Given the description of an element on the screen output the (x, y) to click on. 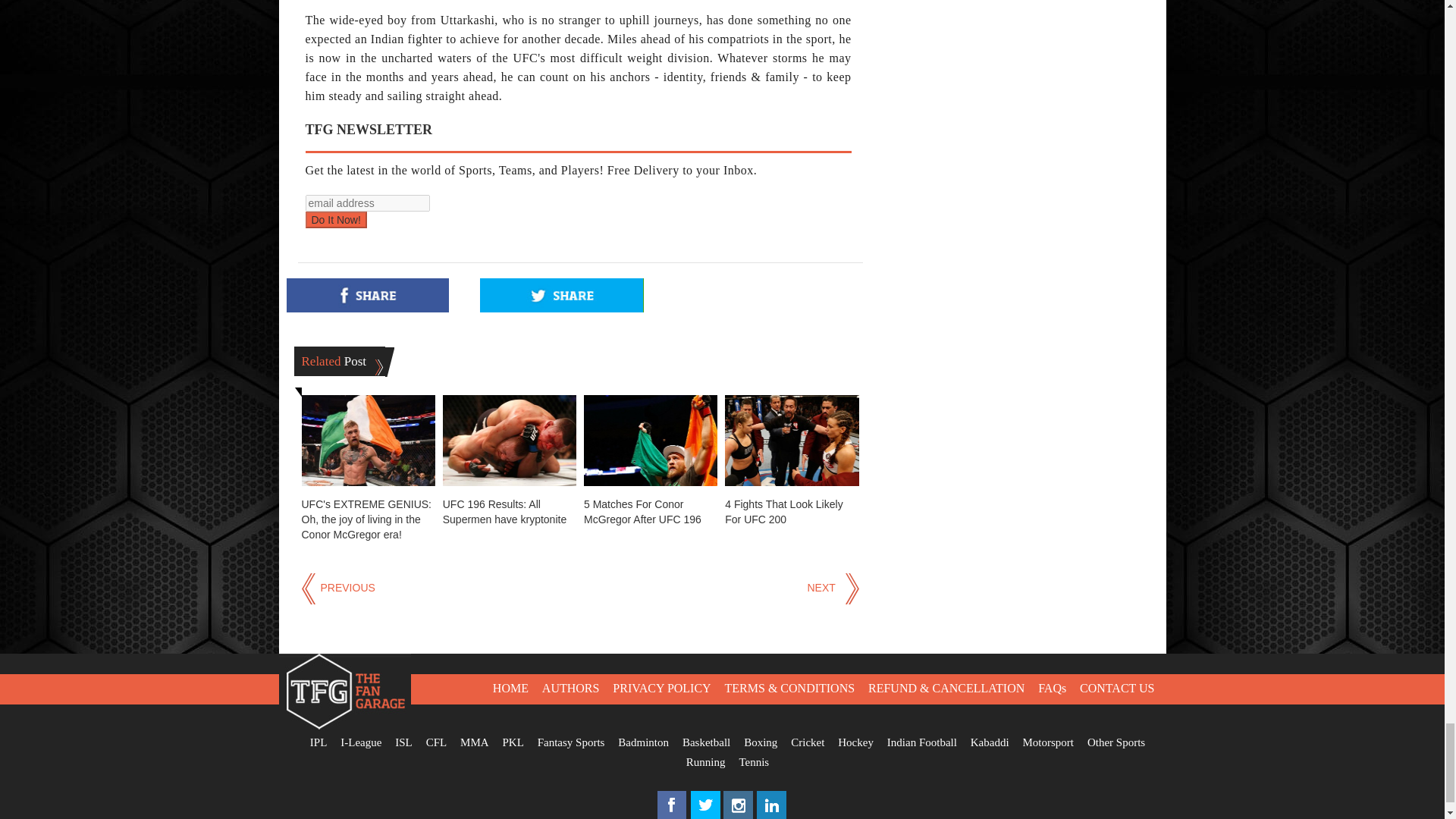
Twitter (705, 815)
Instagram (738, 815)
Facebook (672, 815)
Do It Now! (335, 219)
LinkedIn (772, 815)
